Given the description of an element on the screen output the (x, y) to click on. 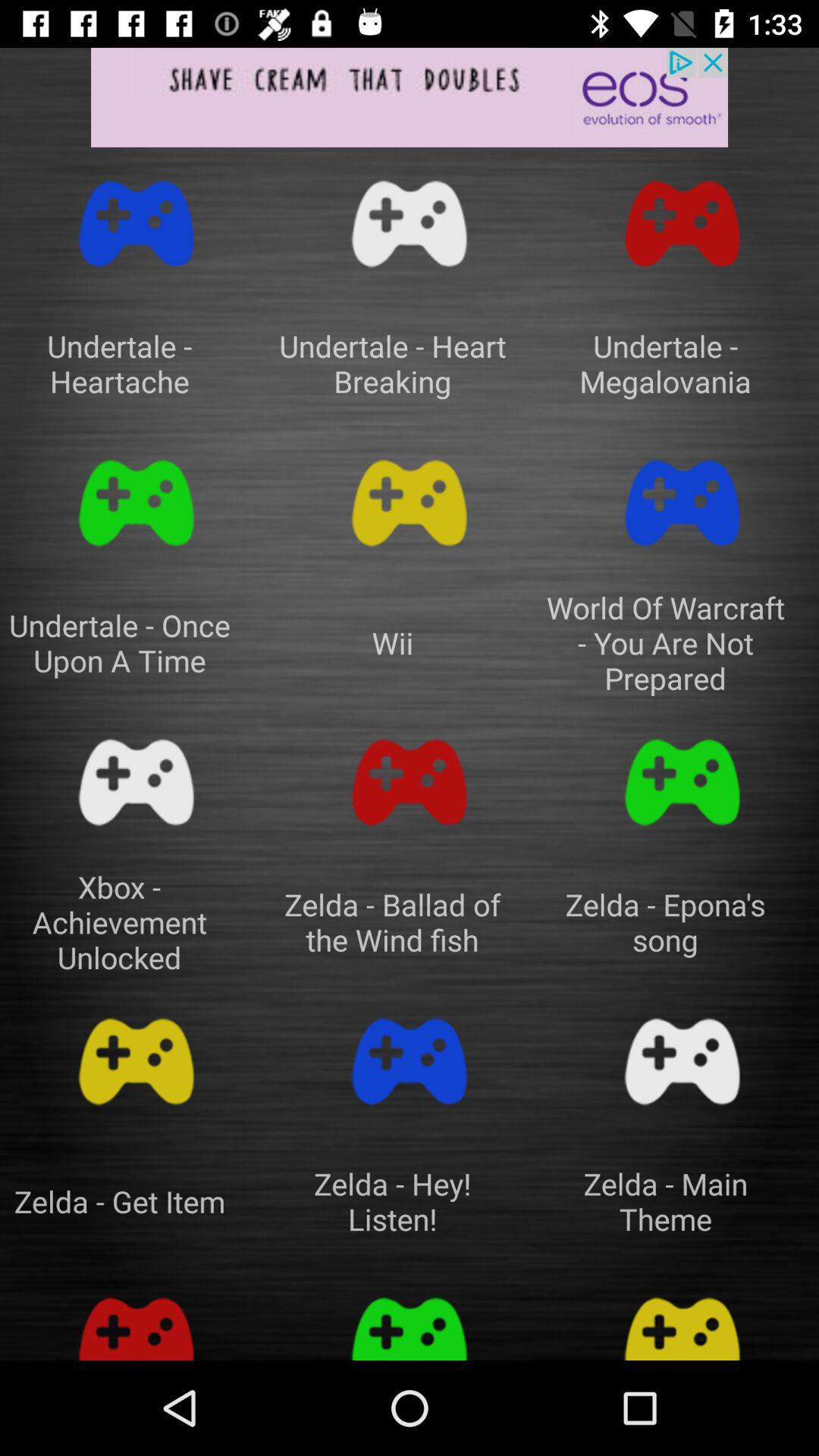
go back (409, 1320)
